Given the description of an element on the screen output the (x, y) to click on. 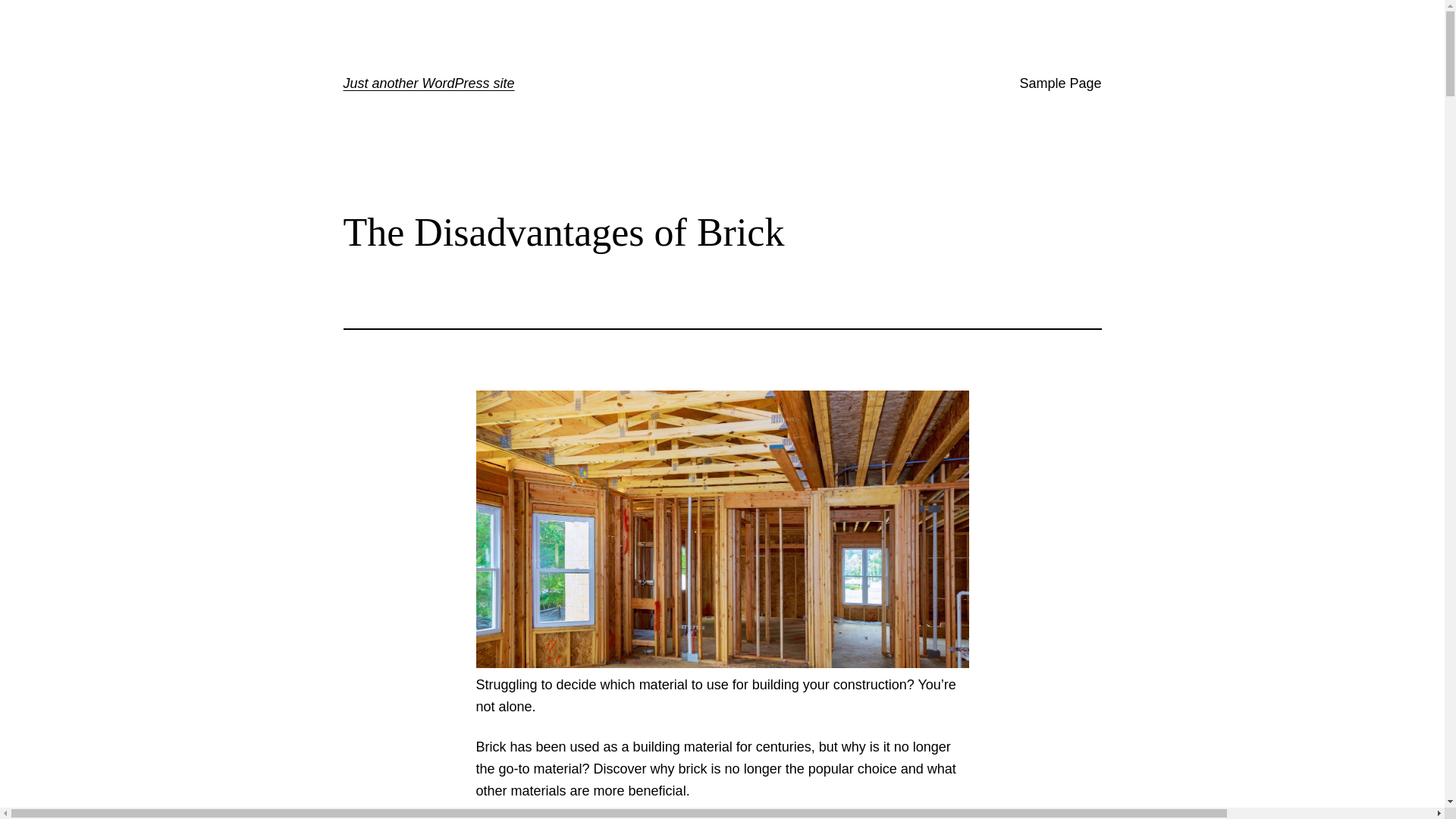
Sample Page (1059, 83)
Just another WordPress site (427, 83)
